Given the description of an element on the screen output the (x, y) to click on. 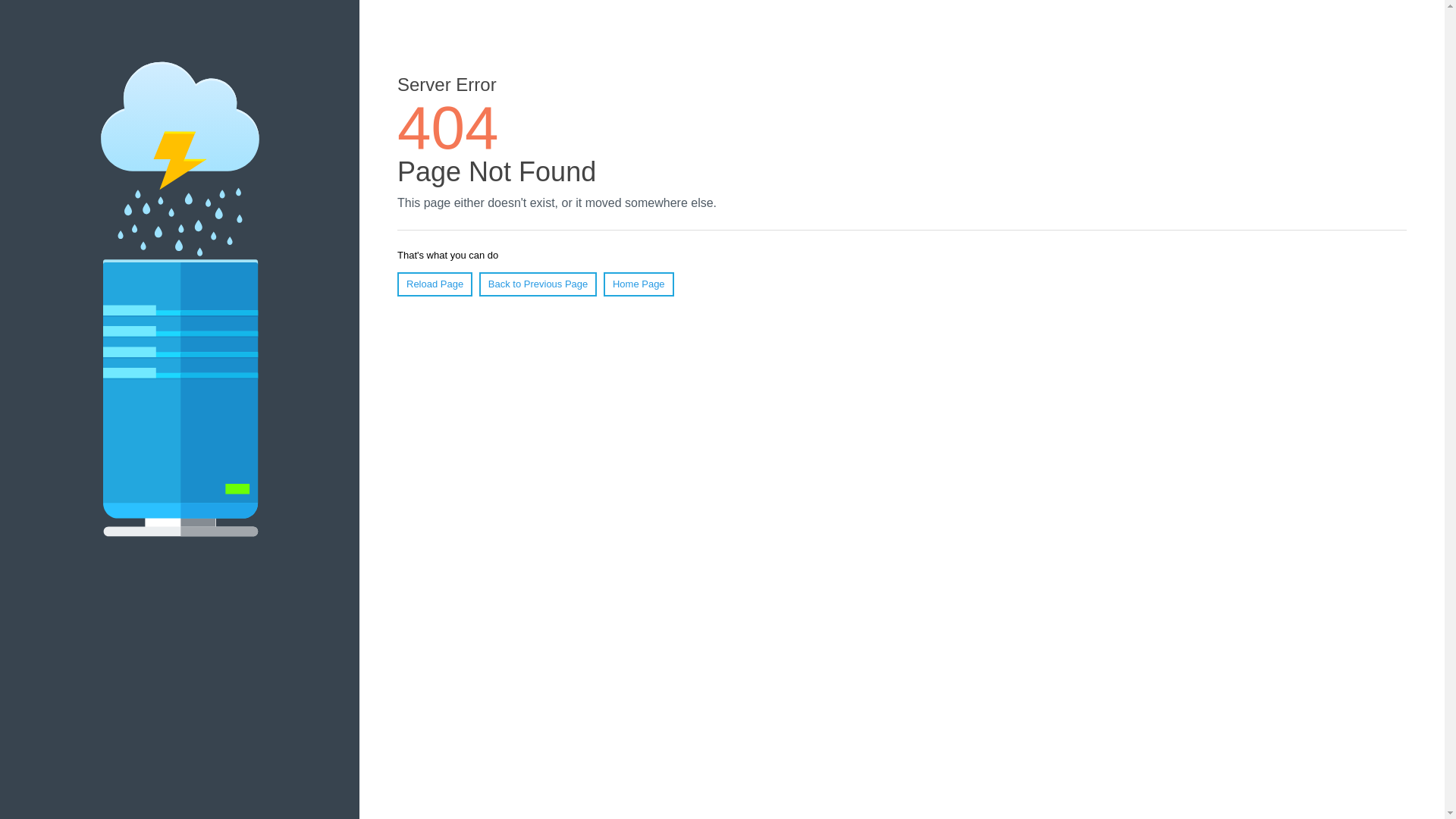
Home Page Element type: text (638, 284)
Back to Previous Page Element type: text (538, 284)
Reload Page Element type: text (434, 284)
